Given the description of an element on the screen output the (x, y) to click on. 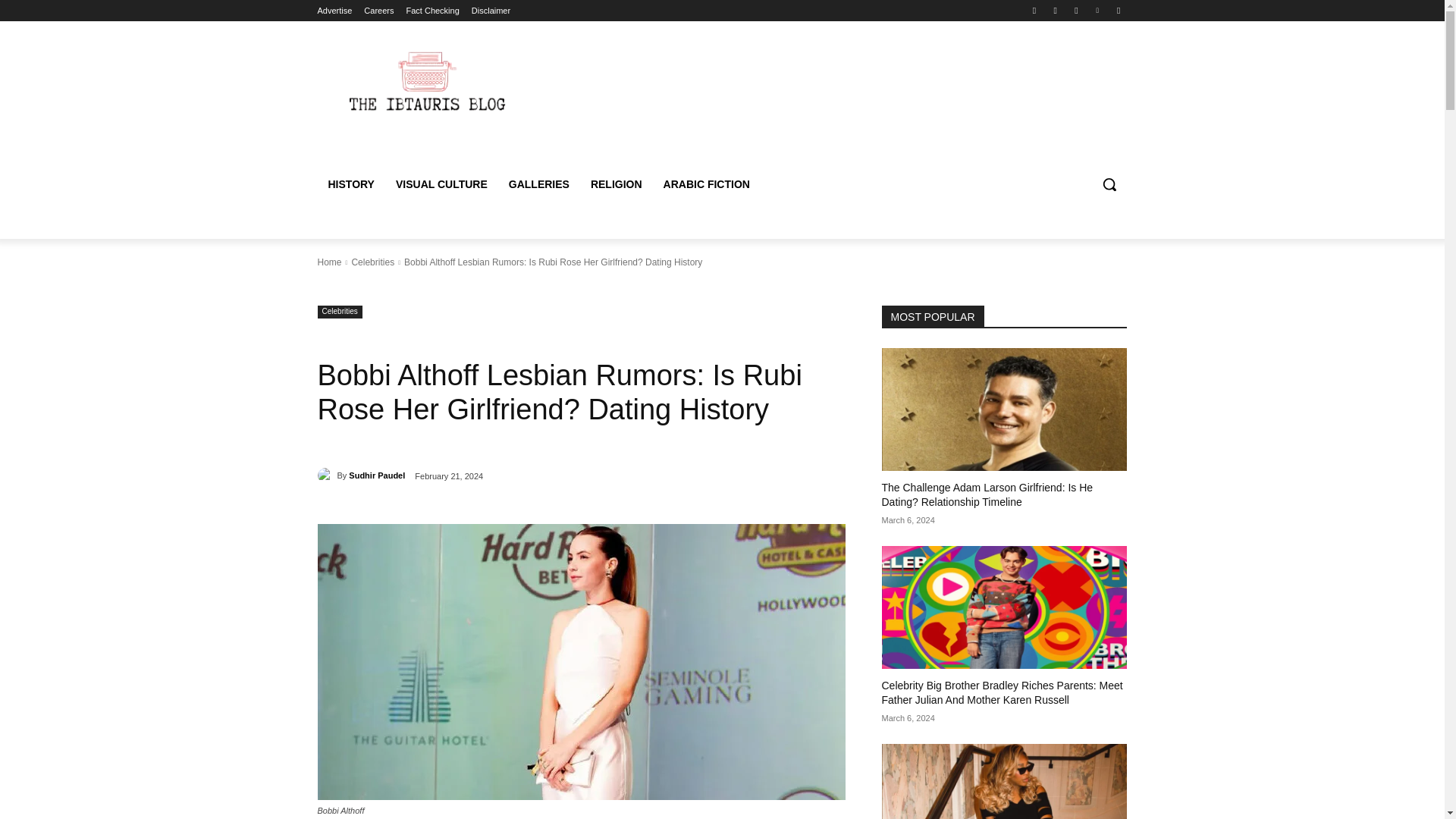
Sudhir Paudel (326, 475)
Facebook (1034, 9)
Celebrities (372, 262)
RELIGION (615, 184)
Disclaimer (491, 10)
Instagram (1055, 9)
ARABIC FICTION (706, 184)
Advertise (334, 10)
Celebrities (339, 311)
Youtube (1117, 9)
Careers (378, 10)
Vimeo (1097, 9)
HISTORY (350, 184)
Fact Checking (432, 10)
